Given the description of an element on the screen output the (x, y) to click on. 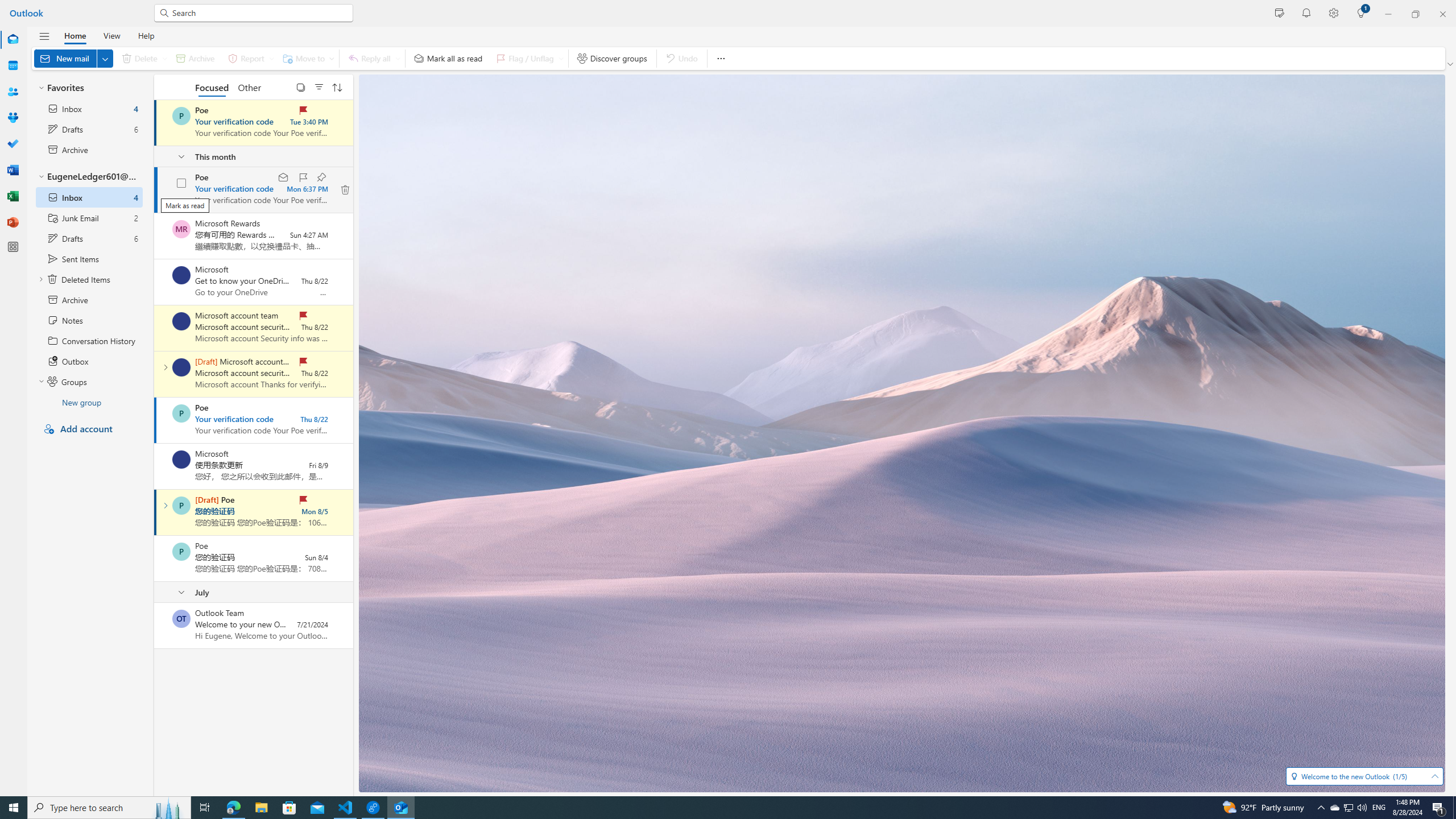
Search for email, meetings, files and more. (258, 12)
System (6, 6)
Mail (12, 39)
More apps (12, 246)
Delete (141, 58)
Excel (12, 196)
Ribbon display options (1450, 63)
Home (74, 35)
Select a conversation (180, 618)
Mark all as read (448, 58)
Flag / Unflag (527, 58)
